Given the description of an element on the screen output the (x, y) to click on. 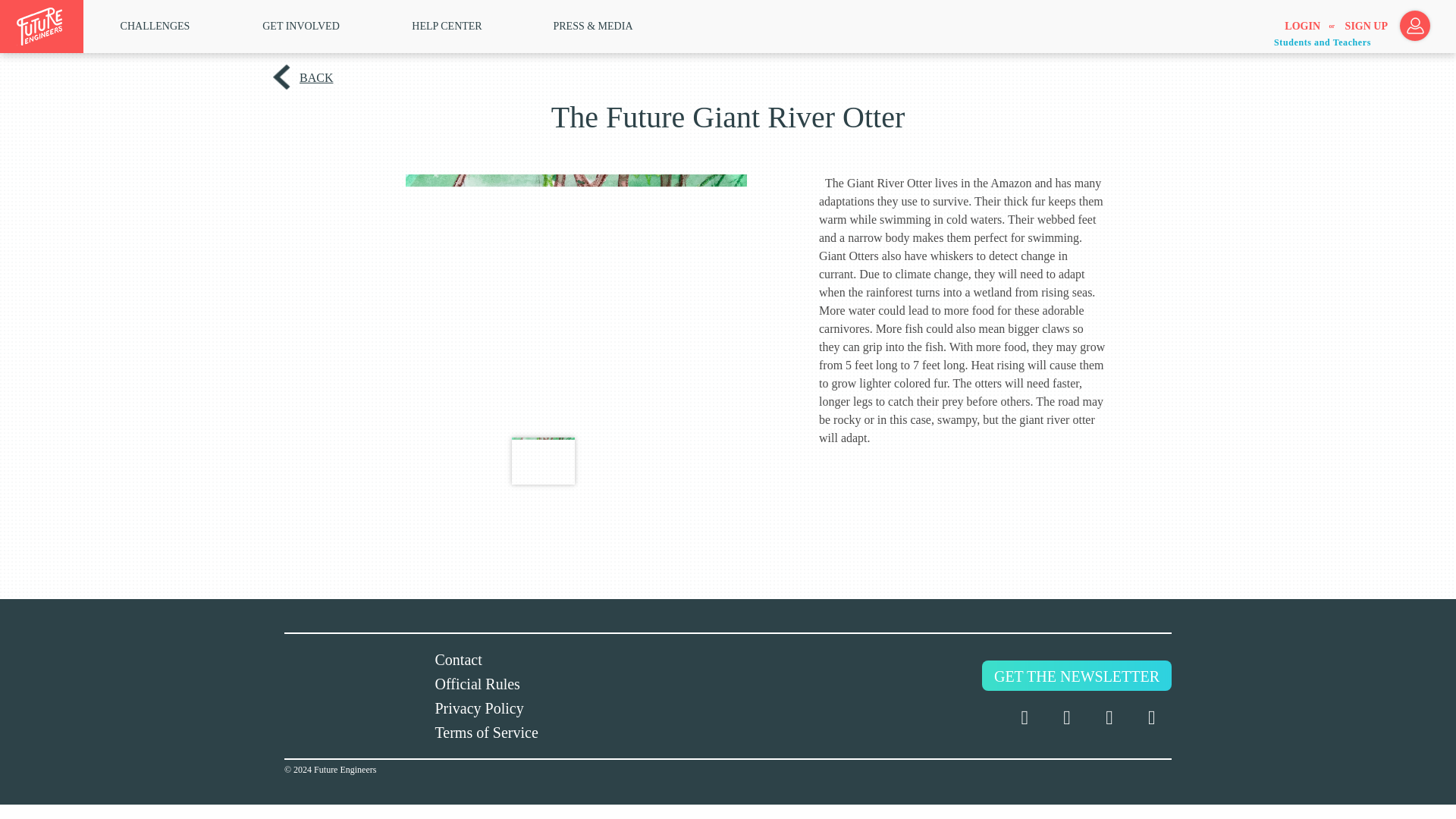
Follow us on Twitter (1024, 718)
Follow us on Youtube (1152, 718)
CHALLENGES (155, 25)
LOGIN (1302, 26)
HELP CENTER (446, 25)
BACK (314, 77)
Follow us on Instagram (1109, 718)
SIGN UP (1366, 26)
Back (314, 77)
Follow us on Facebook (1066, 718)
